Given the description of an element on the screen output the (x, y) to click on. 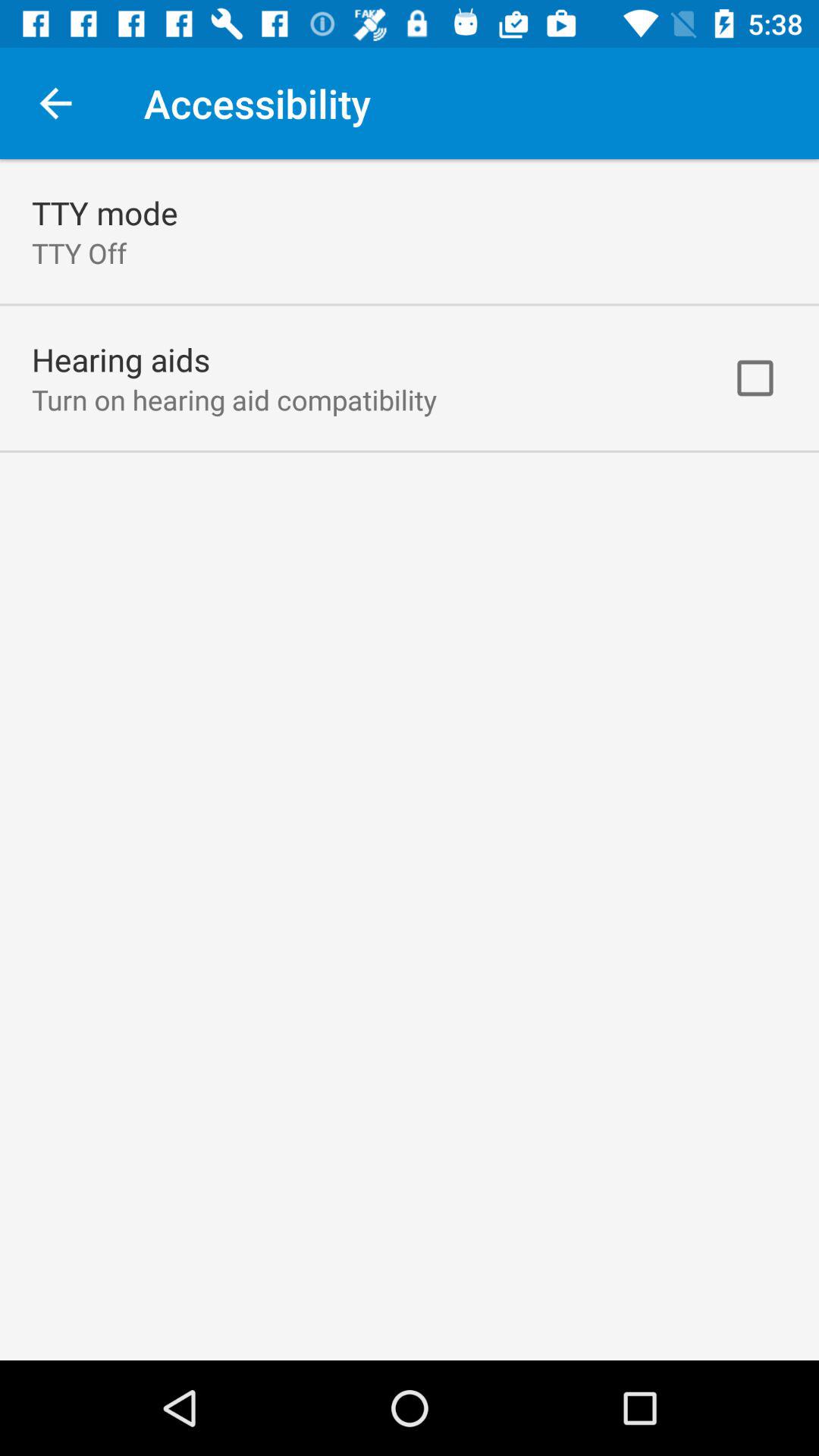
click the checkbox at the top right corner (755, 378)
